Given the description of an element on the screen output the (x, y) to click on. 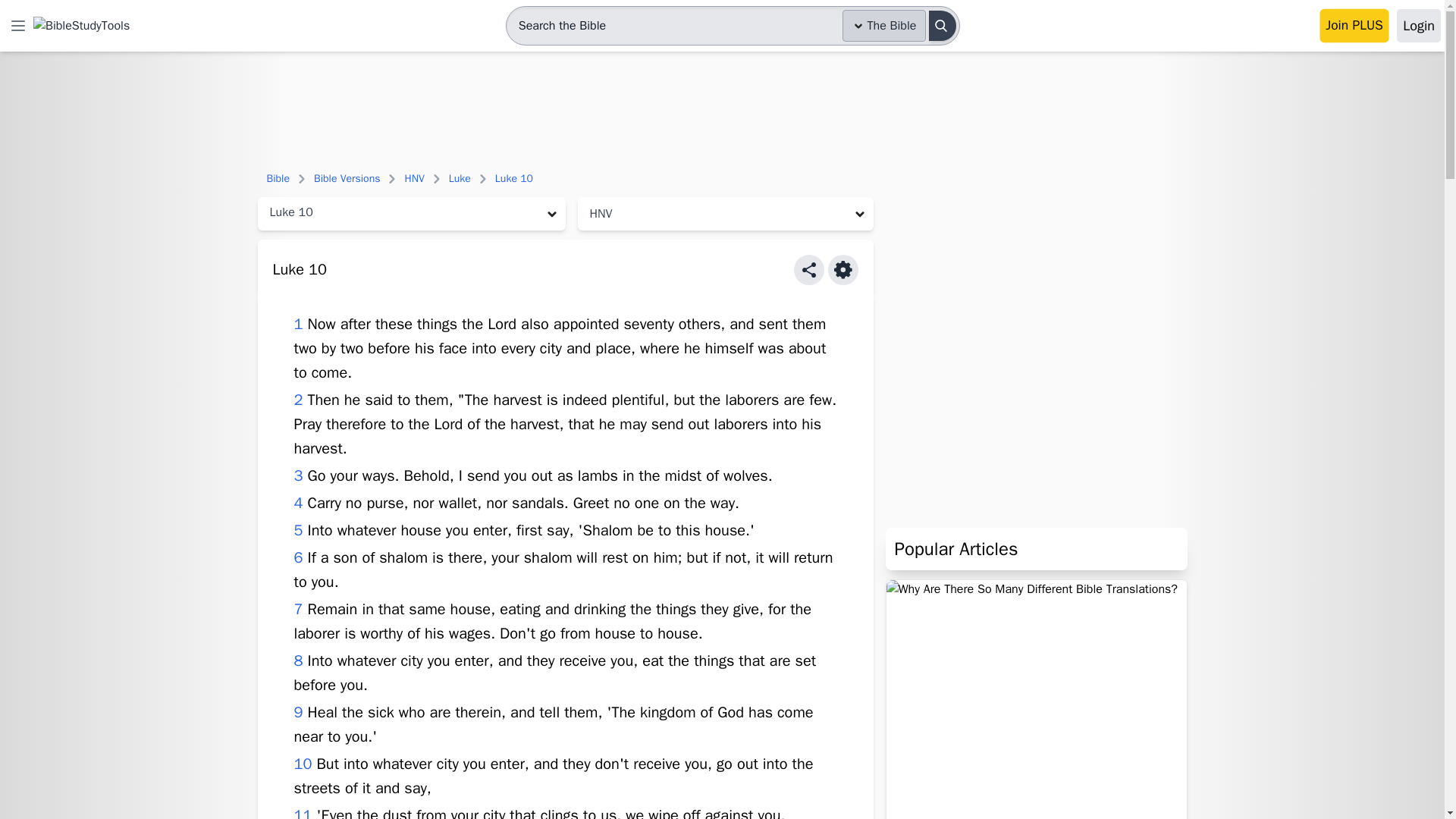
Join PLUS (1354, 26)
Scripture Settings (843, 269)
The Bible (884, 25)
Login (1418, 25)
